Given the description of an element on the screen output the (x, y) to click on. 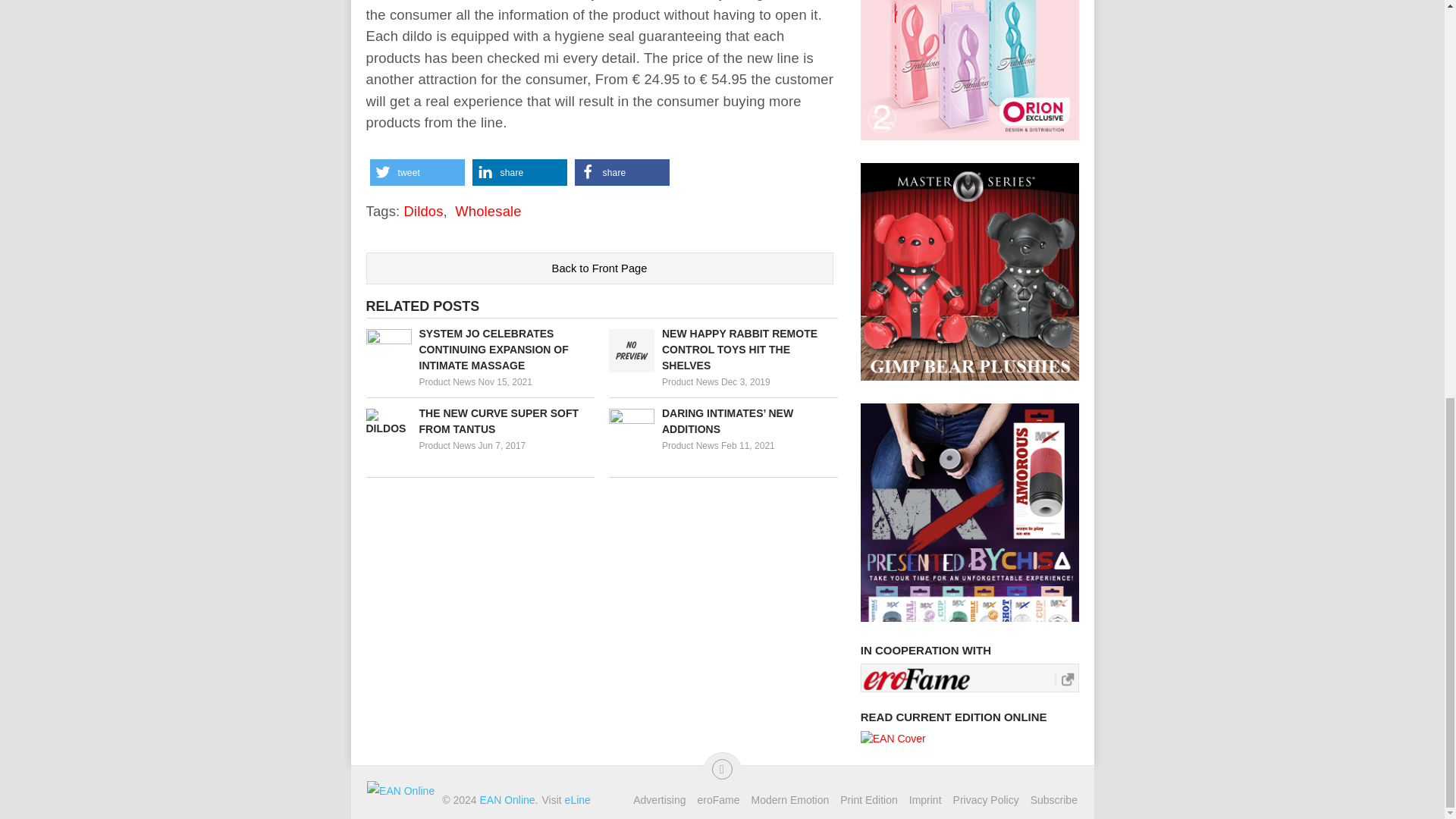
Back to Front Page (599, 268)
Product News (690, 445)
Share on Twitter (416, 171)
Product News (690, 381)
Product News (447, 445)
Wholesale (487, 211)
Product News (447, 381)
Share on LinkedIn (518, 171)
New Happy Rabbit remote control toys hit the shelves (723, 349)
share  (518, 171)
NEW HAPPY RABBIT REMOTE CONTROL TOYS HIT THE SHELVES (723, 349)
THE NEW CURVE SUPER SOFT FROM TANTUS (479, 421)
The new Curve Super Soft from Tantus (479, 421)
share  (622, 171)
